Given the description of an element on the screen output the (x, y) to click on. 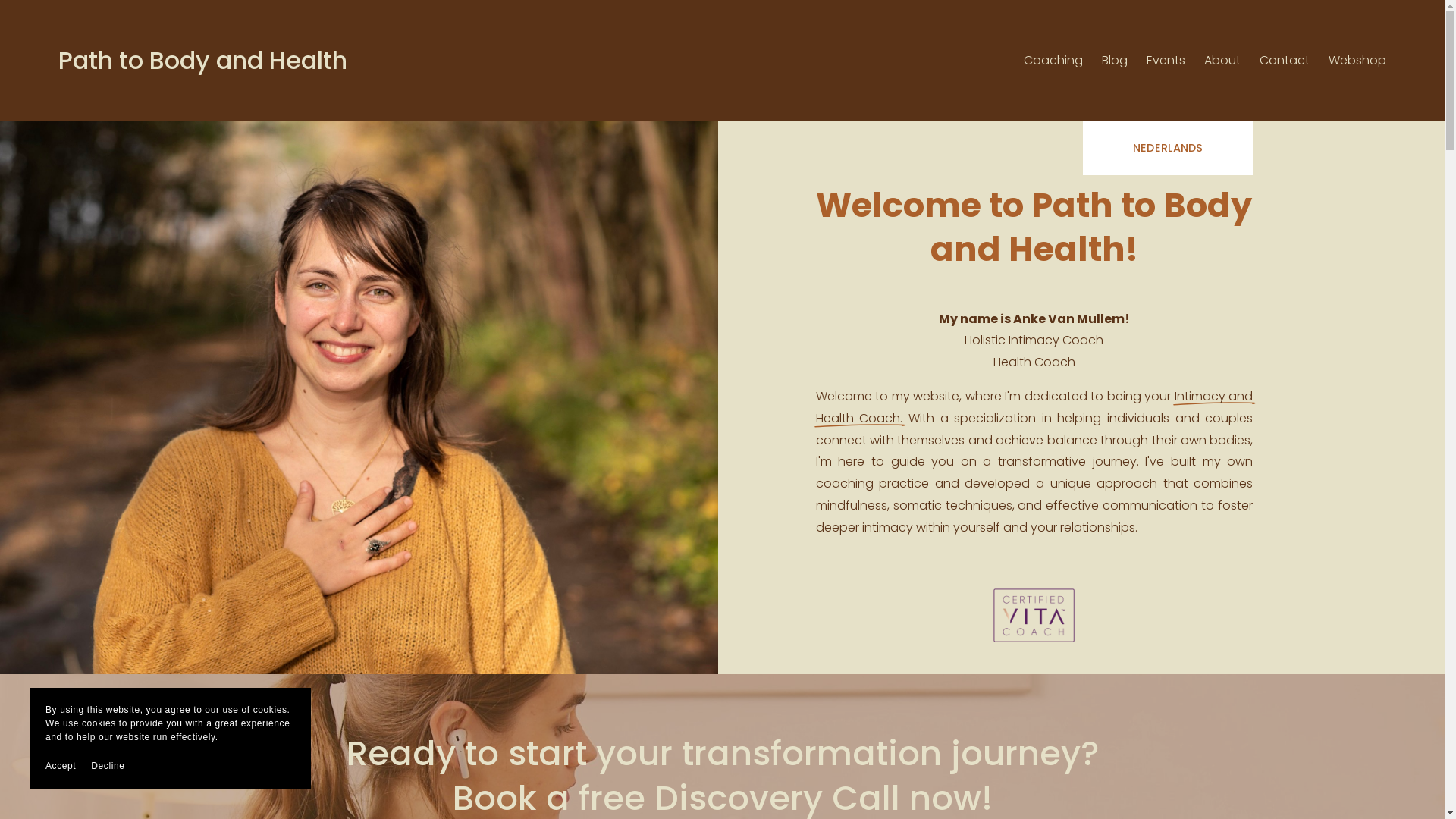
Decline Element type: text (107, 766)
Accept Element type: text (60, 766)
Contact Element type: text (1284, 60)
Webshop Element type: text (1357, 60)
Path to Body and Health Element type: text (202, 60)
About Element type: text (1222, 60)
Events Element type: text (1165, 60)
NEDERLANDS Element type: text (1167, 148)
Blog Element type: text (1114, 60)
Coaching Element type: text (1052, 60)
